Given the description of an element on the screen output the (x, y) to click on. 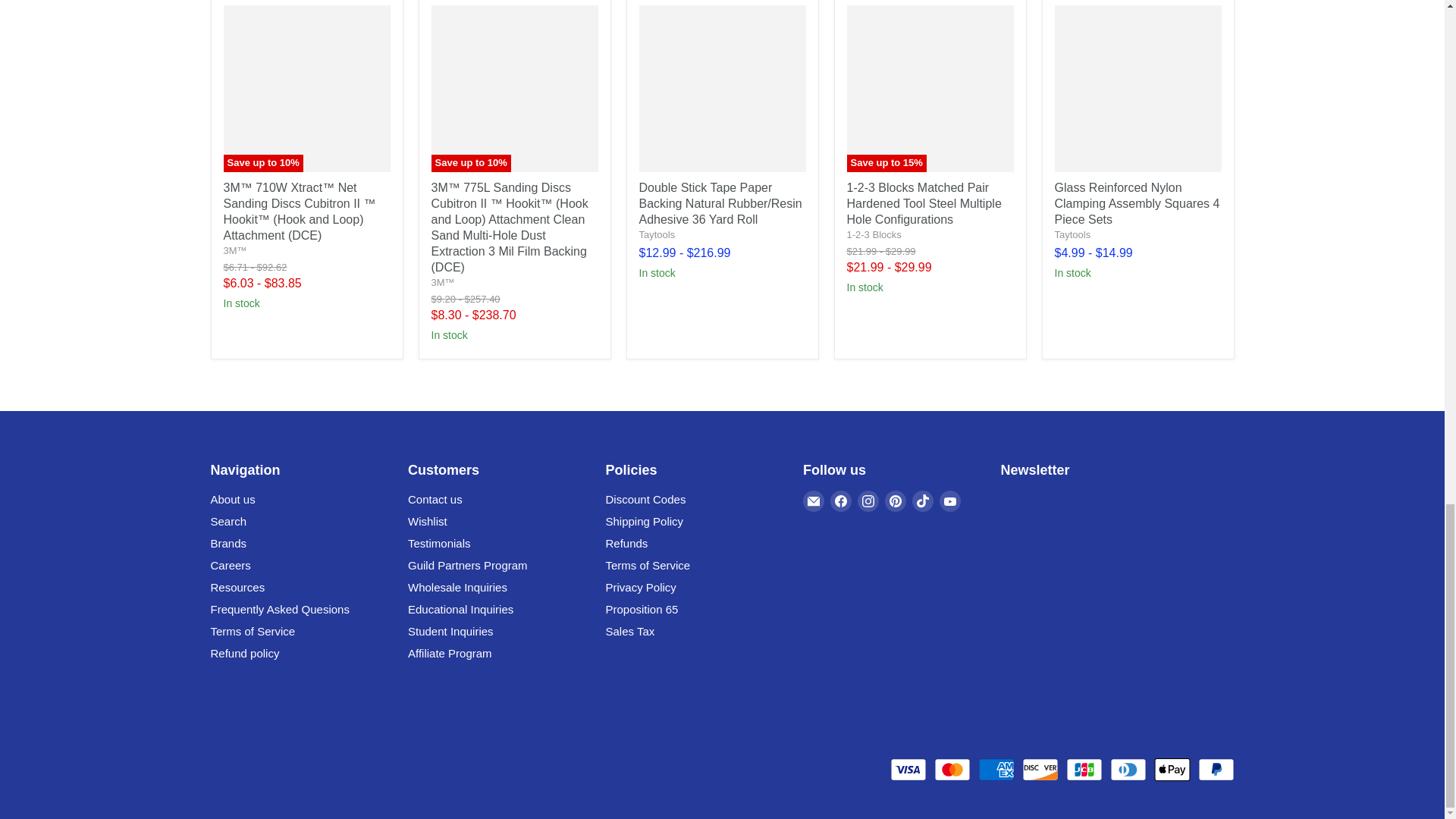
Facebook (840, 500)
Email (813, 500)
Taytools (1072, 234)
Taytools (657, 234)
Pinterest (895, 500)
YouTube (949, 500)
1-2-3 Blocks (873, 234)
Instagram (868, 500)
TikTok (922, 500)
